Given the description of an element on the screen output the (x, y) to click on. 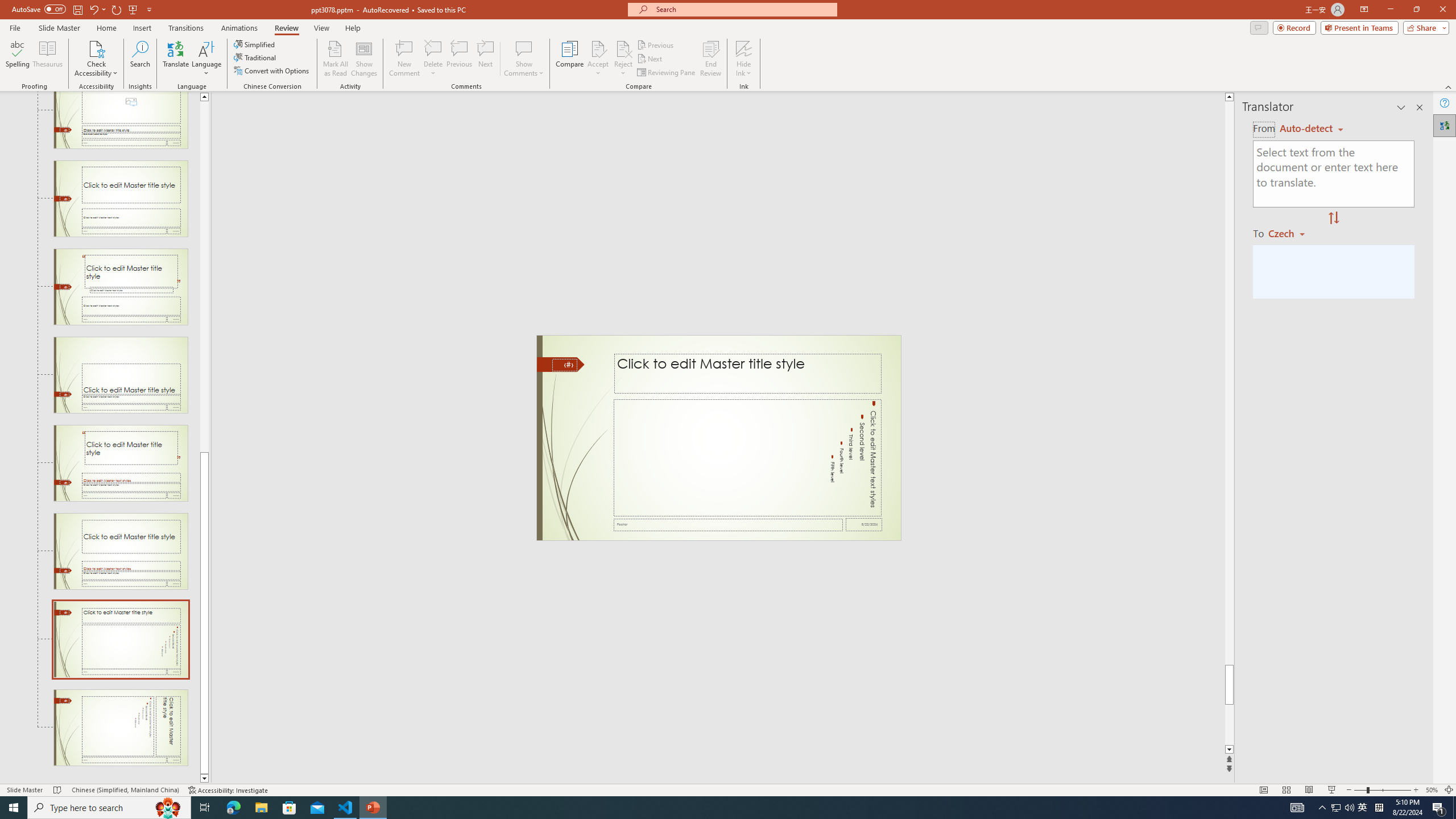
Slide Title and Vertical Text Layout: used by no slides (120, 639)
Date (863, 524)
Czech (1291, 232)
Slide Picture with Caption Layout: used by no slides (120, 119)
